Given the description of an element on the screen output the (x, y) to click on. 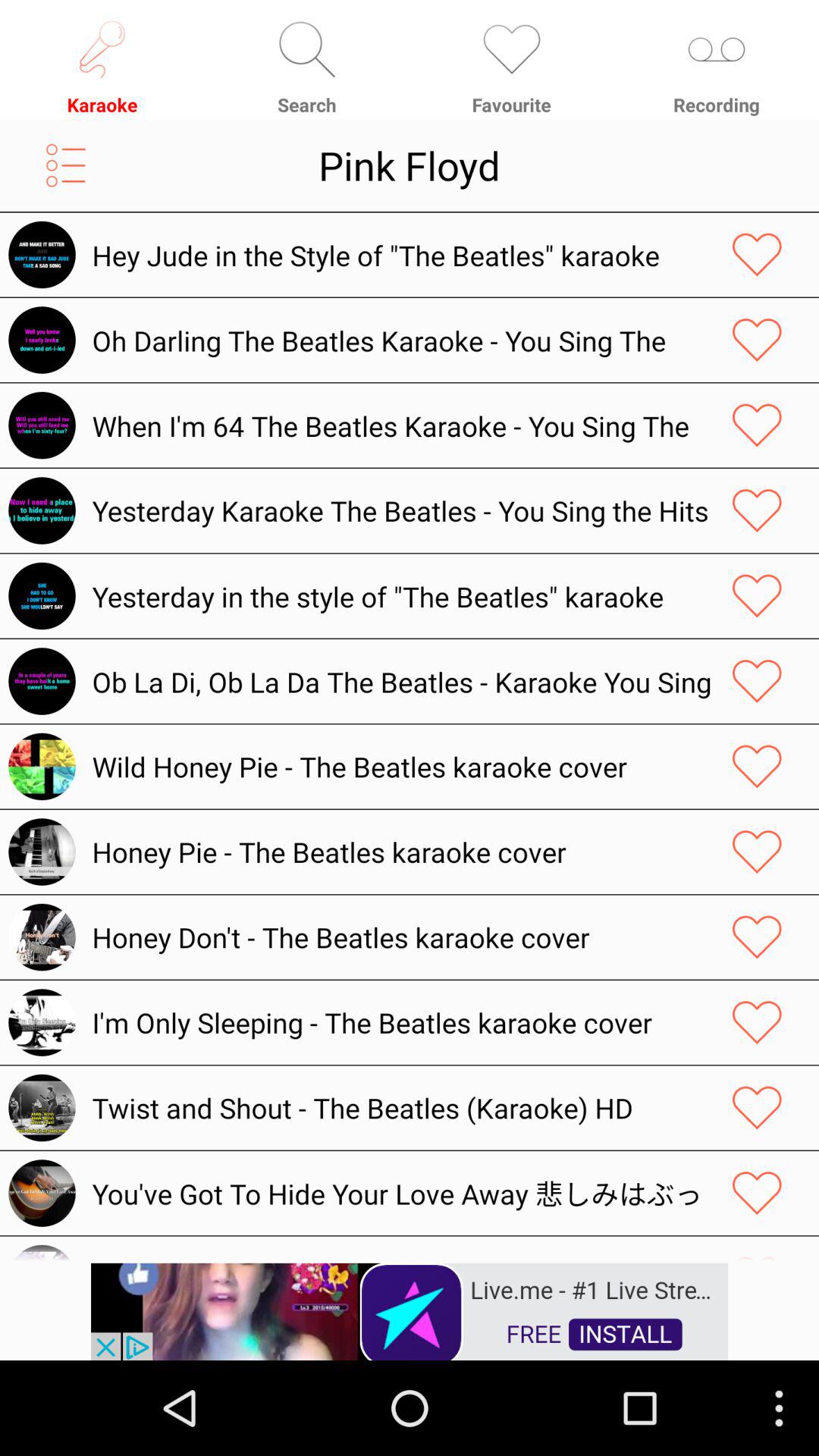
favorite the song (756, 339)
